Given the description of an element on the screen output the (x, y) to click on. 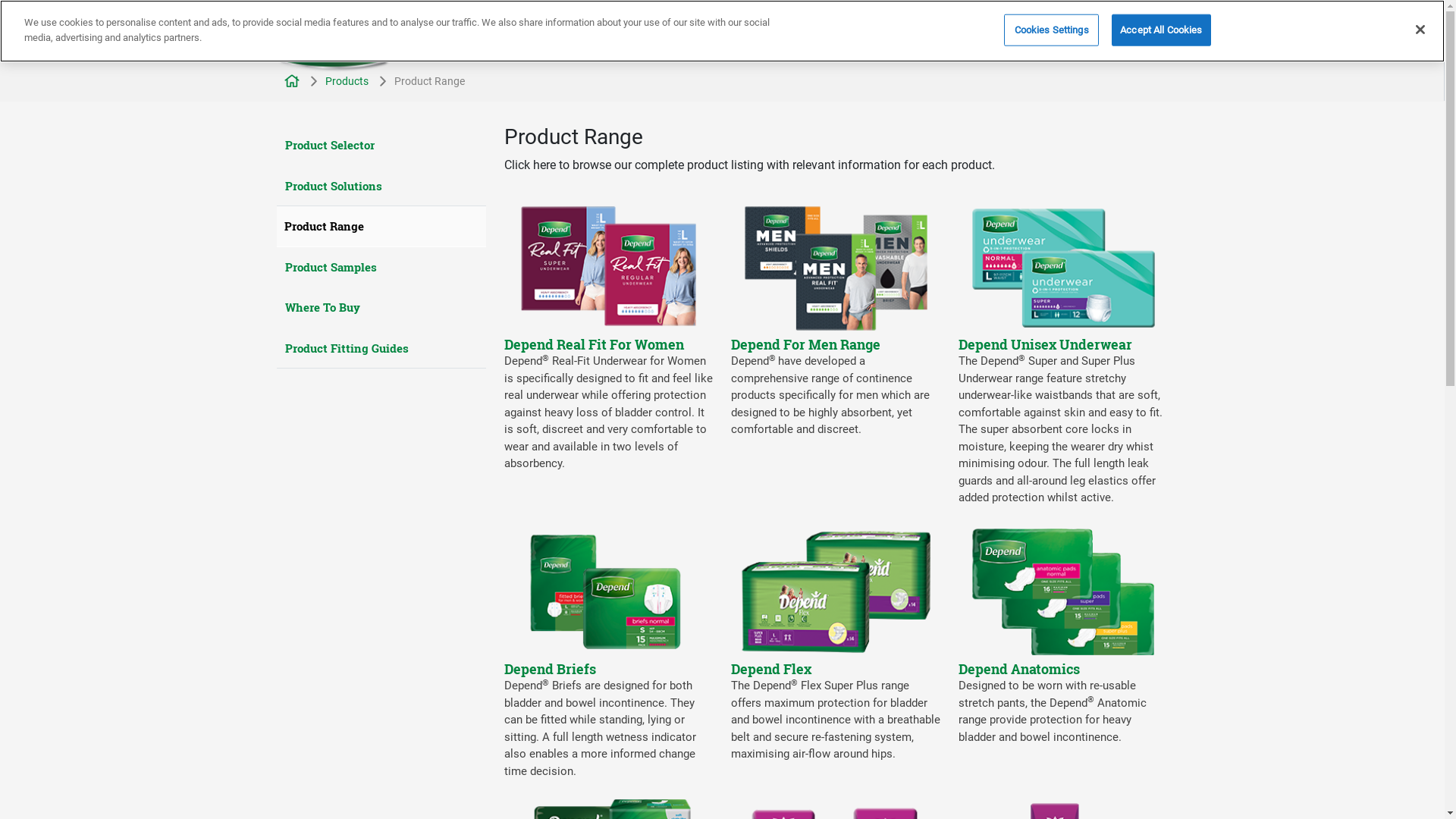
Cookies Settings Element type: text (1051, 30)
Products Element type: text (345, 81)
Product Samples Element type: text (380, 266)
Product Selector Element type: text (380, 145)
Free Samples Element type: text (1021, 29)
Product Fitting Guides Element type: text (380, 348)
Where To Buy Element type: text (380, 307)
Education Element type: text (661, 34)
Login Element type: text (1108, 29)
Products Element type: text (587, 34)
Product Solutions Element type: text (380, 186)
Accept All Cookies Element type: text (1160, 30)
Product Range Element type: text (380, 226)
